Given the description of an element on the screen output the (x, y) to click on. 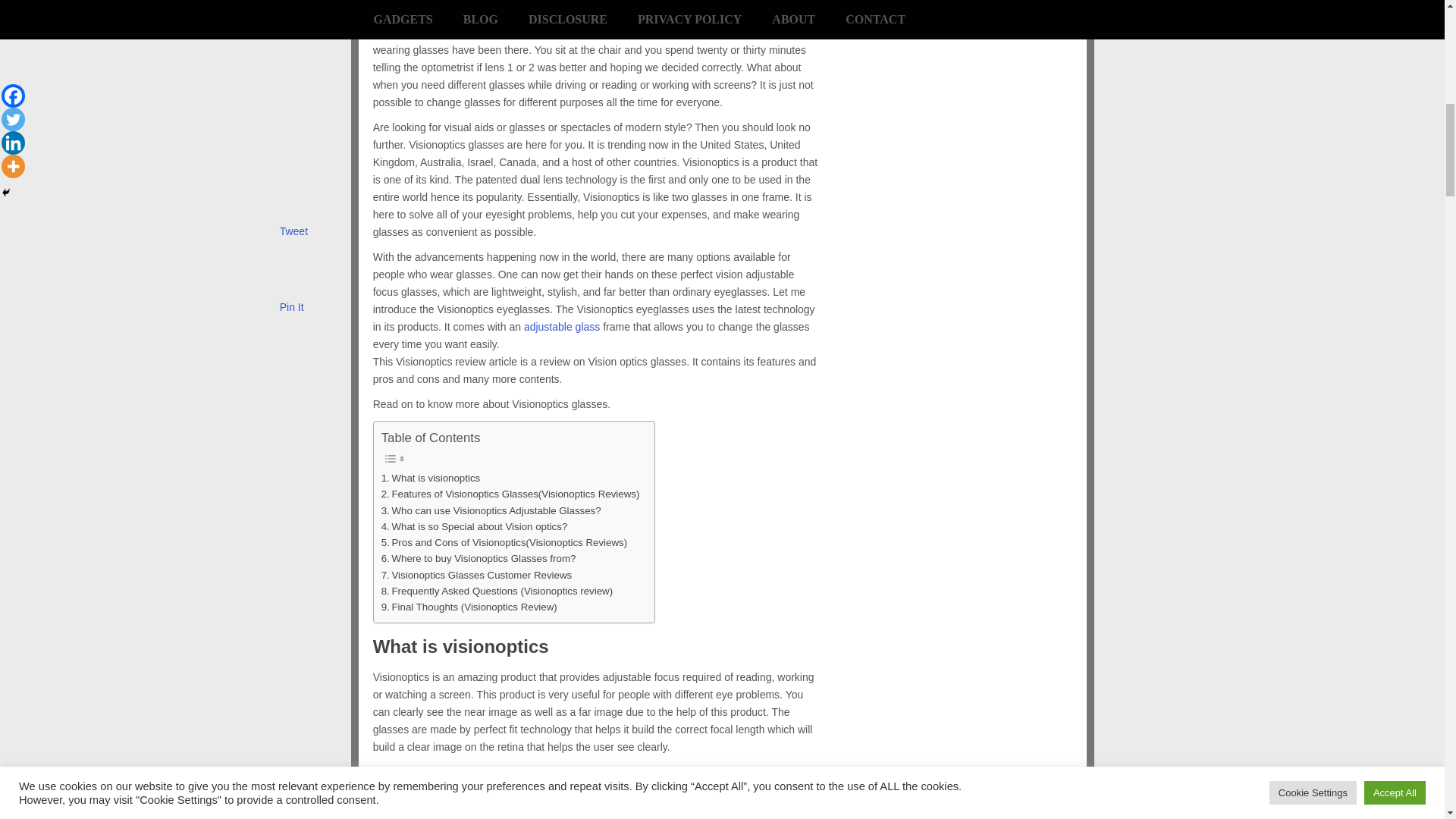
Visionoptics Glasses Customer Reviews (476, 575)
adjustable glass (563, 326)
Where to buy Visionoptics Glasses from? (478, 558)
What is visionoptics (430, 478)
What is so Special about Vision optics? (474, 526)
Where to buy Visionoptics Glasses from? (478, 558)
Visionoptics Glasses Customer Reviews (476, 575)
What is so Special about Vision optics? (474, 526)
Who can use Visionoptics Adjustable Glasses? (491, 510)
What is visionoptics (430, 478)
Who can use Visionoptics Adjustable Glasses? (491, 510)
